Given the description of an element on the screen output the (x, y) to click on. 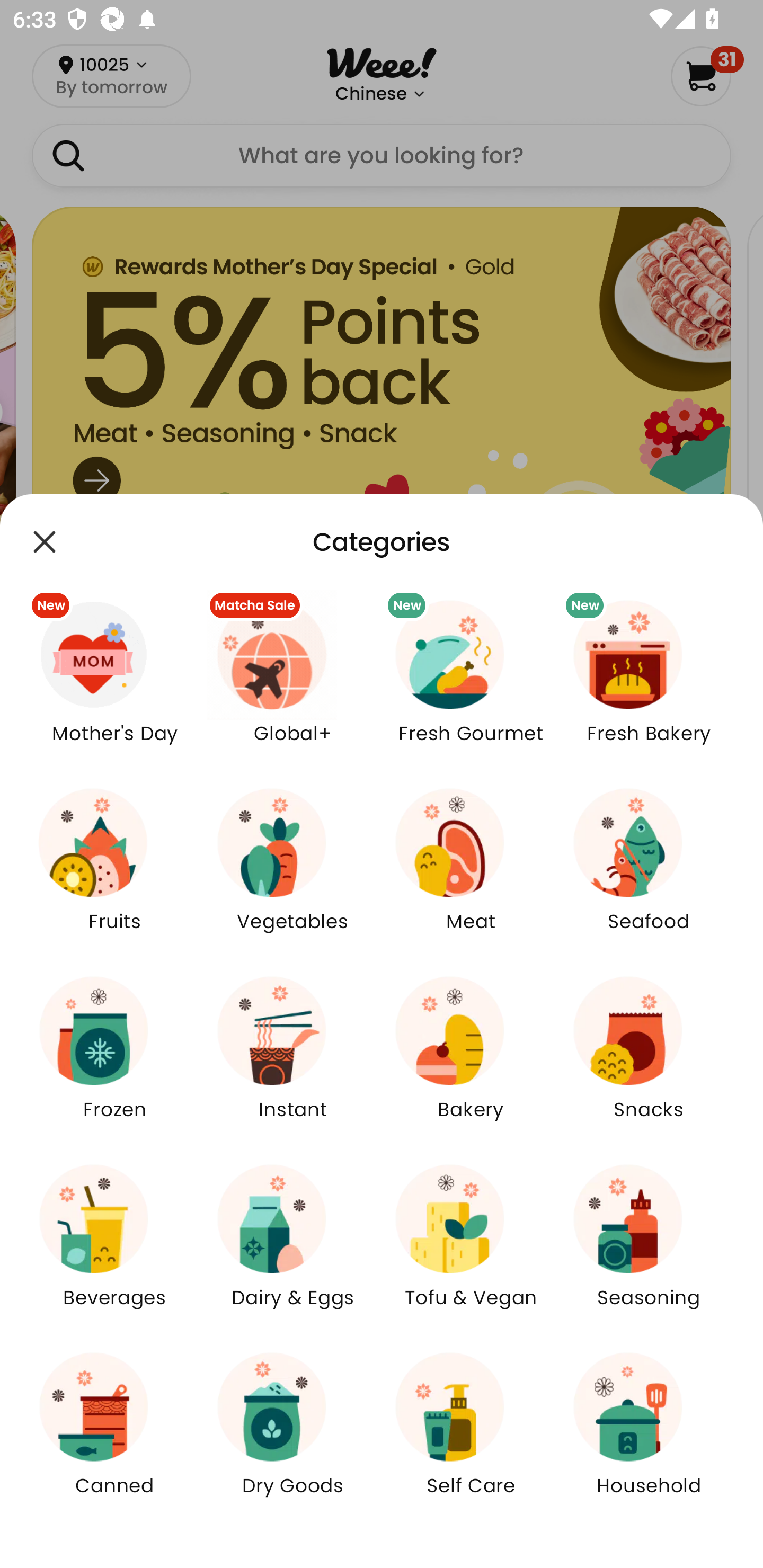
New Mother's Day (114, 683)
Matcha Sale Global+ (292, 683)
New Fresh Gourmet (470, 683)
New Fresh Bakery (648, 683)
Fruits (114, 871)
Vegetables (292, 871)
Meat (470, 871)
Seafood (648, 871)
Frozen (114, 1059)
Instant (292, 1059)
Bakery (470, 1059)
Snacks (648, 1059)
Beverages (114, 1248)
Dairy & Eggs (292, 1248)
Tofu & Vegan (470, 1248)
Seasoning (648, 1248)
Canned (114, 1436)
Dry Goods (292, 1436)
Self Care (470, 1436)
Household (648, 1436)
